Given the description of an element on the screen output the (x, y) to click on. 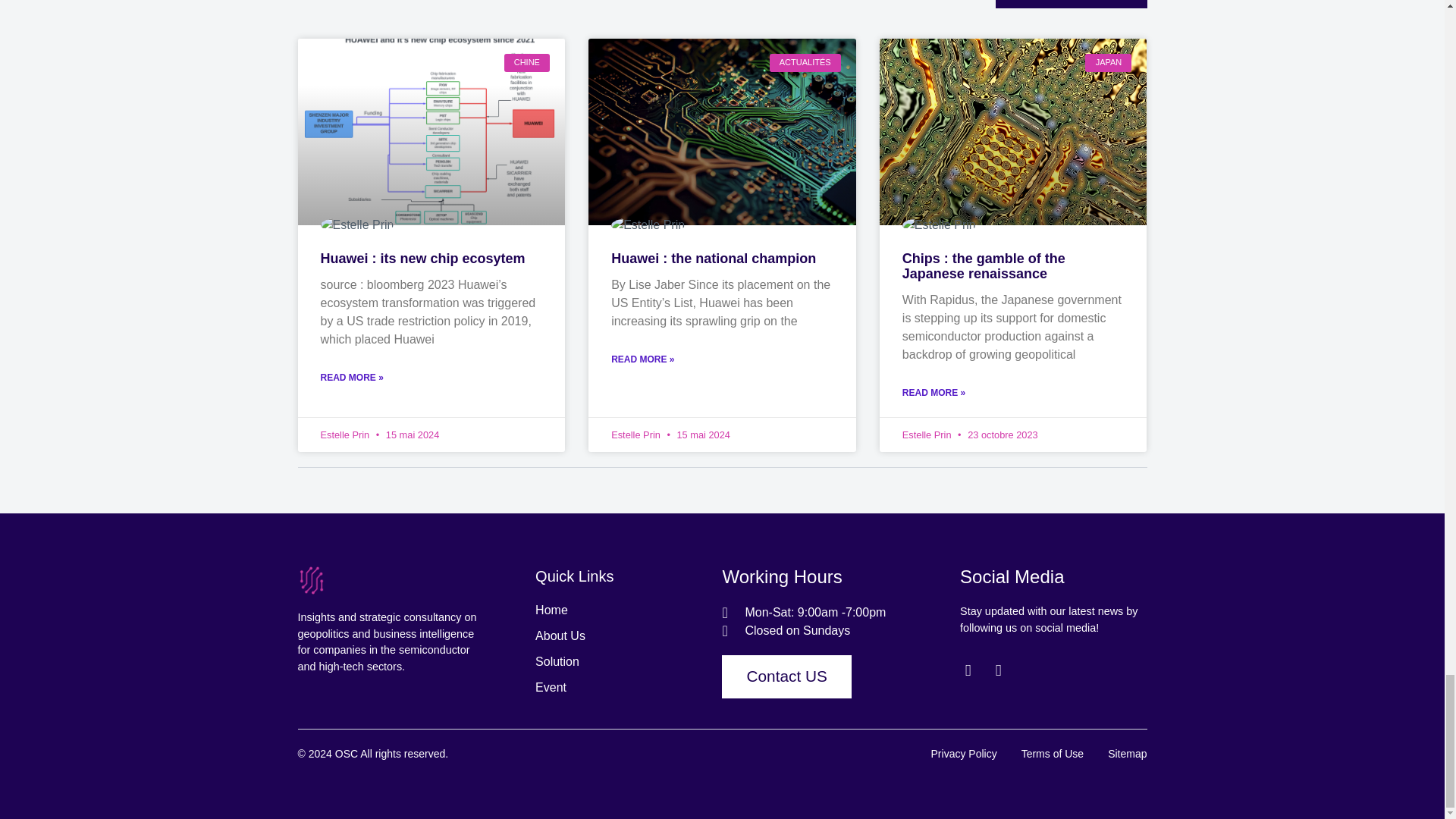
Home (628, 610)
Chips : the gamble of the Japanese renaissance (983, 265)
See all articles (1071, 4)
Huawei : the national champion (713, 258)
Huawei : its new chip ecosytem (422, 258)
